Given the description of an element on the screen output the (x, y) to click on. 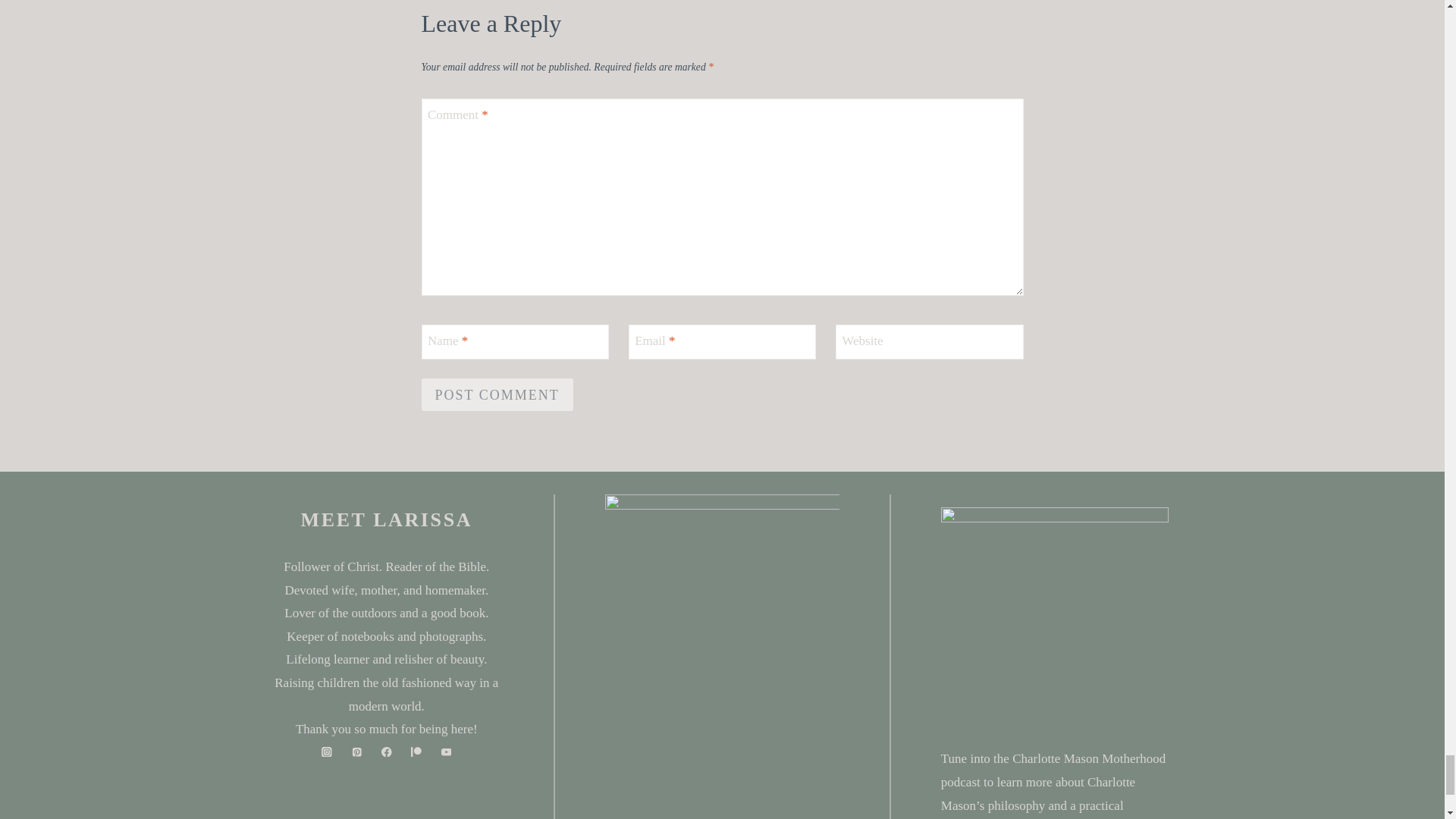
Post Comment (497, 394)
